Given the description of an element on the screen output the (x, y) to click on. 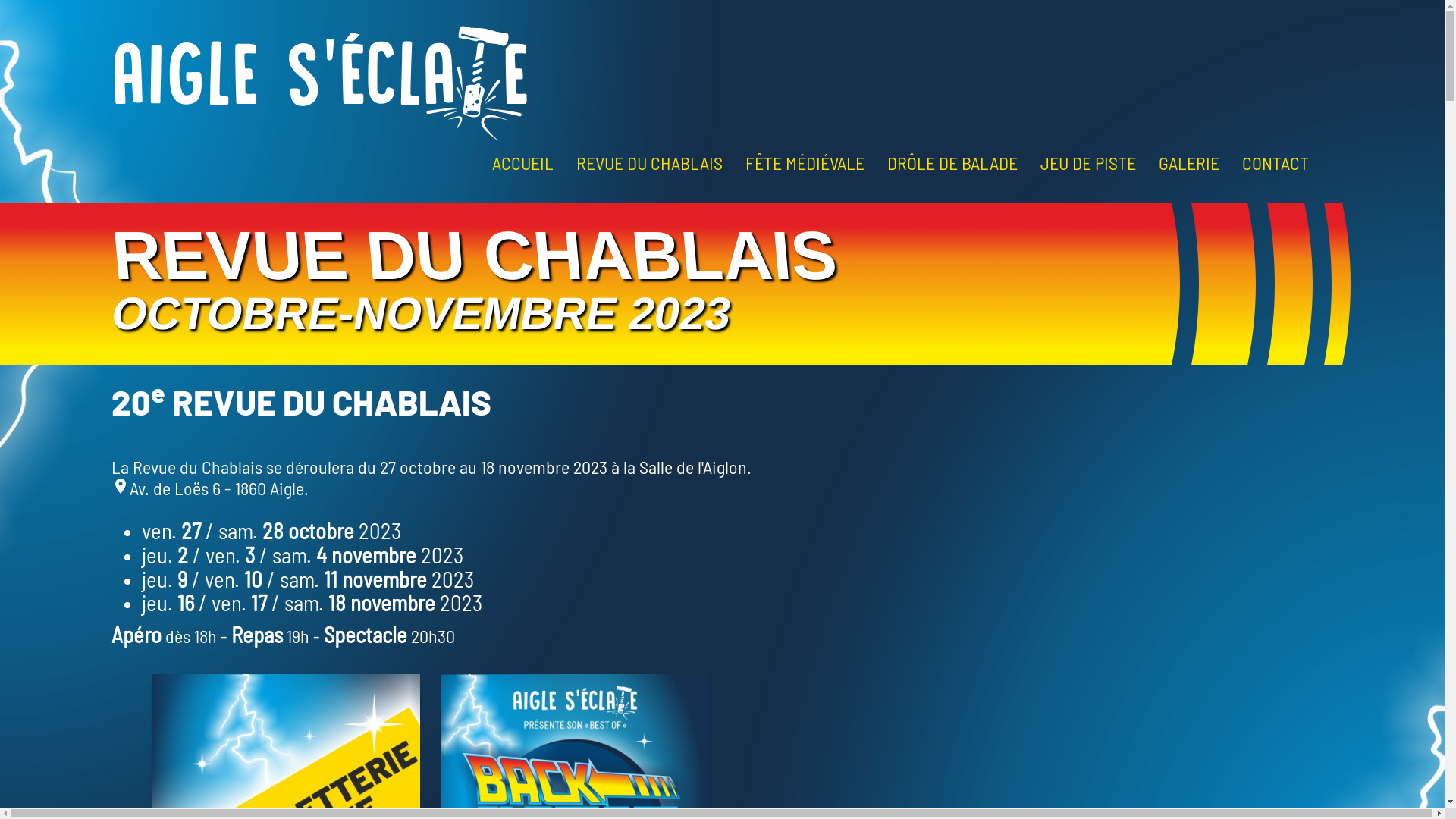
ACCUEIL Element type: text (522, 162)
GALERIE Element type: text (1188, 162)
REVUE DU CHABLAIS Element type: text (649, 162)
CONTACT Element type: text (1275, 162)
JEU DE PISTE Element type: text (1087, 162)
